Given the description of an element on the screen output the (x, y) to click on. 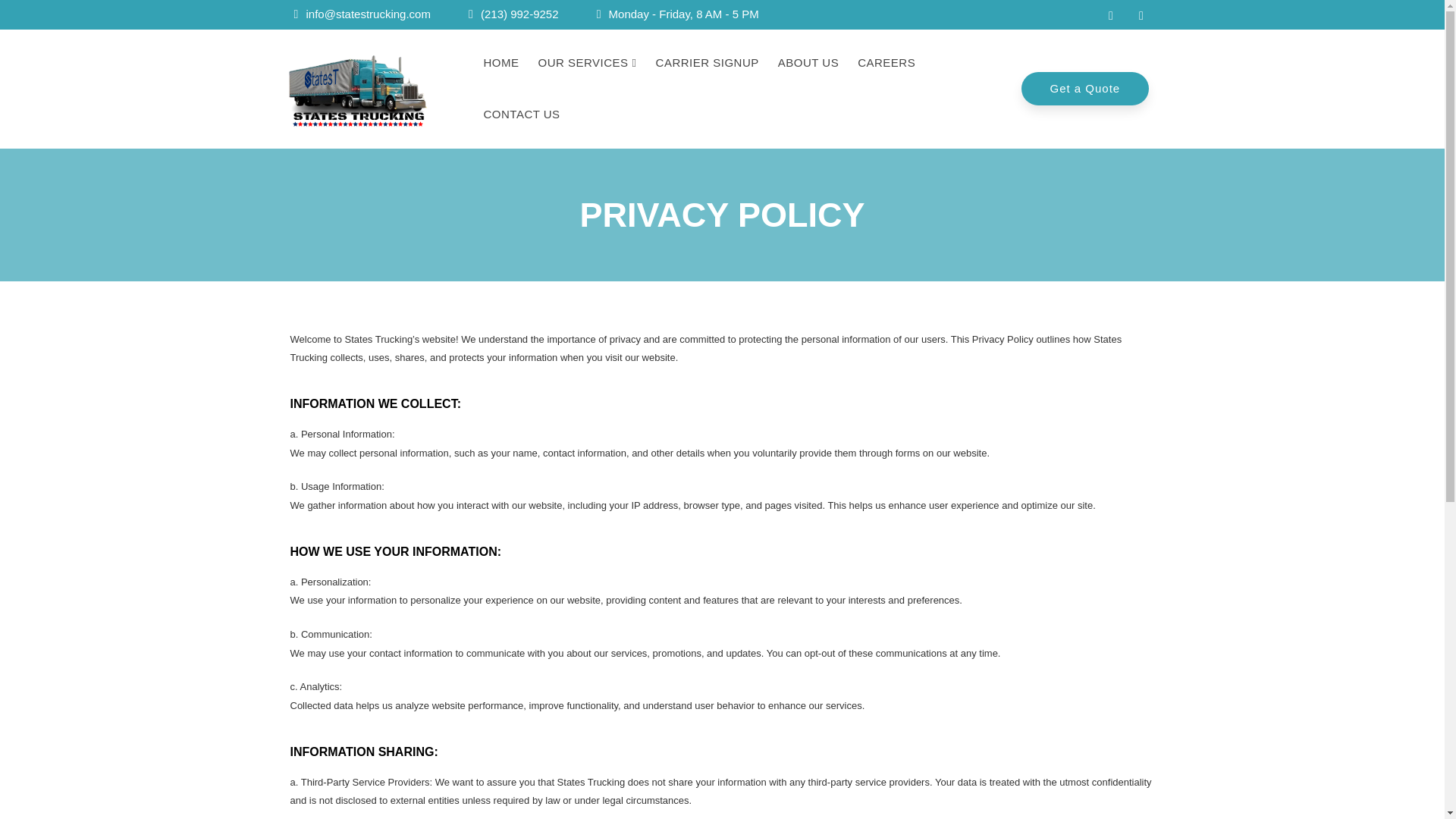
CAREERS (885, 62)
CONTACT US (521, 114)
CARRIER SIGNUP (707, 62)
OUR SERVICES (587, 62)
ABOUT US (808, 62)
Get a Quote (1084, 88)
HOME (500, 62)
